Given the description of an element on the screen output the (x, y) to click on. 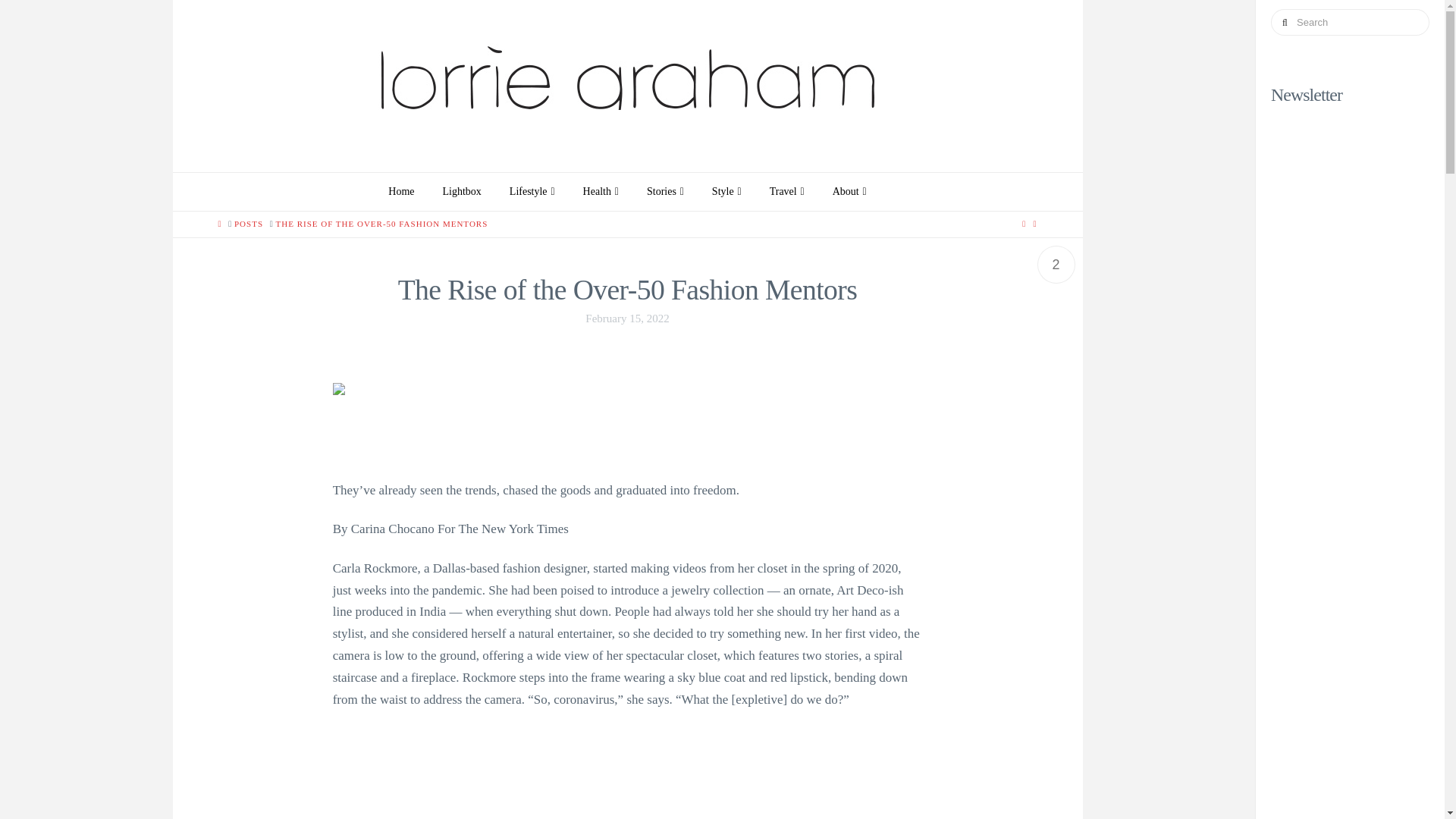
You Are Here (381, 224)
About (849, 191)
Home (401, 191)
YouTube Video (628, 773)
Travel (786, 191)
Style (726, 191)
Lifestyle (532, 191)
Stories (664, 191)
Lightbox (461, 191)
Health (600, 191)
